Given the description of an element on the screen output the (x, y) to click on. 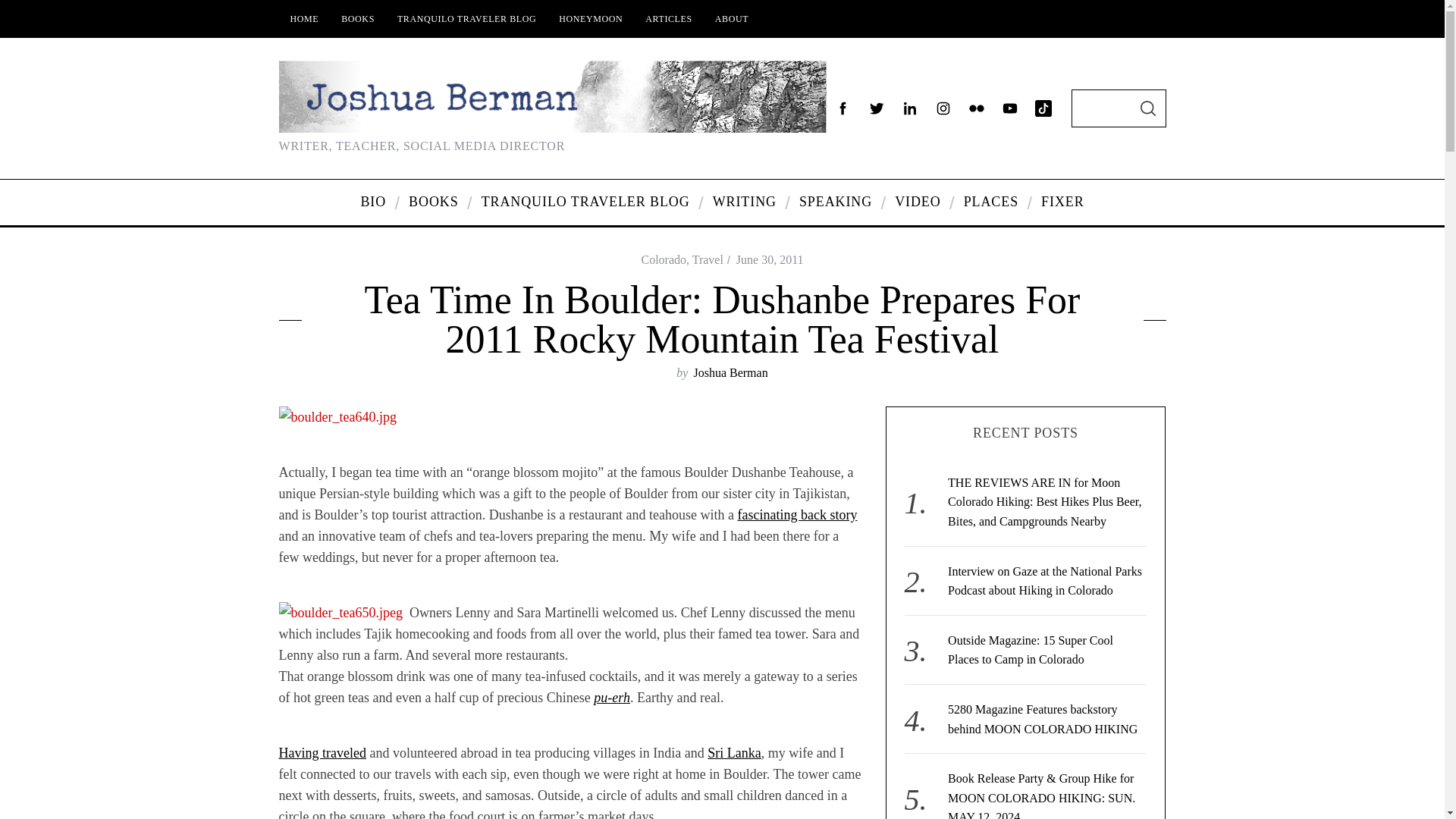
ARTICLES (668, 18)
HOME (304, 18)
ABOUT (731, 18)
HONEYMOON (590, 18)
TRANQUILO TRAVELER BLOG (466, 18)
BOOKS (357, 18)
